Given the description of an element on the screen output the (x, y) to click on. 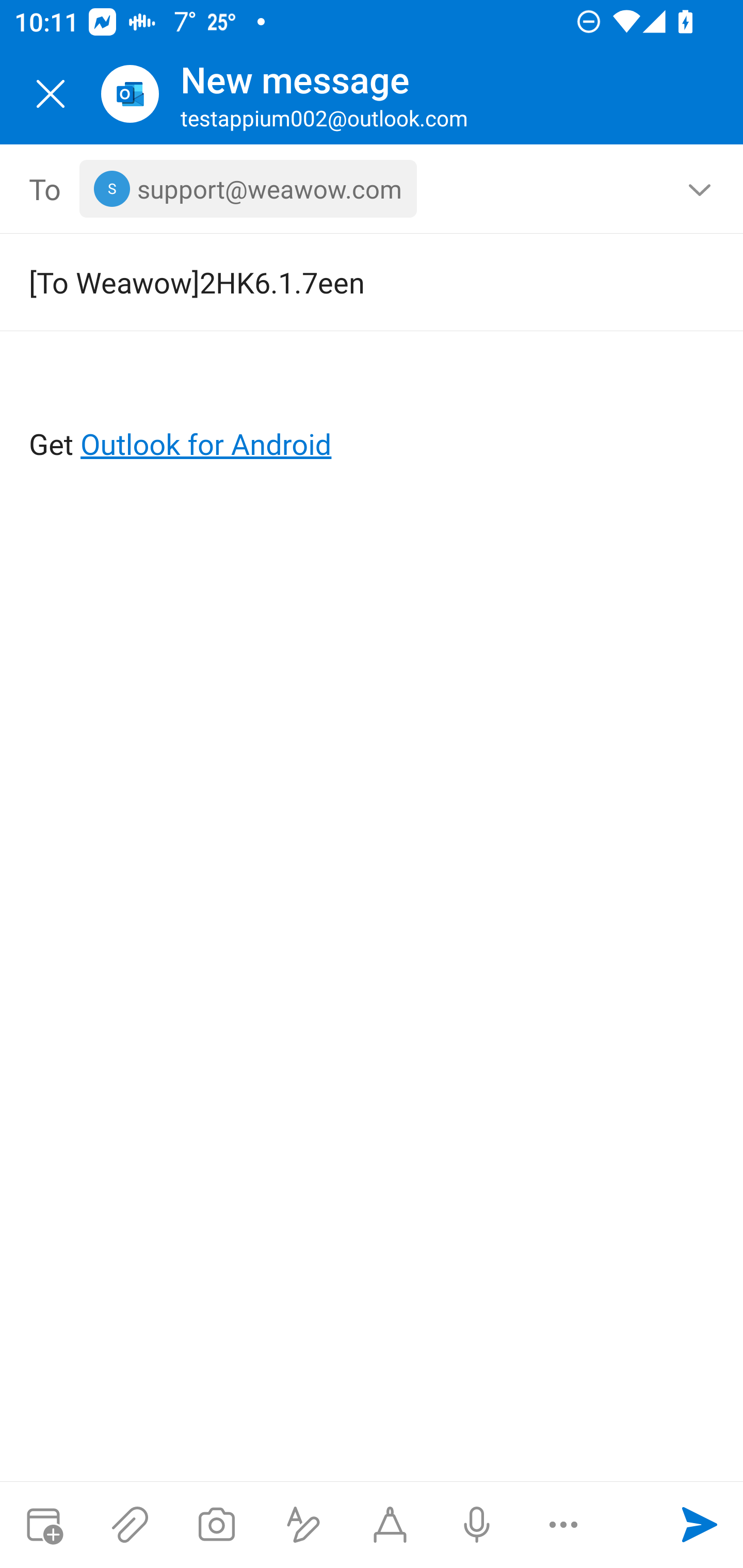
Close (50, 93)
[To Weawow]2HK6.1.7een (342, 281)


Get Outlook for Android (372, 411)
Attach meeting (43, 1524)
Attach files (129, 1524)
Take a photo (216, 1524)
Show formatting options (303, 1524)
Start Ink compose (389, 1524)
Dictation (476, 1524)
More options (563, 1524)
Send (699, 1524)
